Given the description of an element on the screen output the (x, y) to click on. 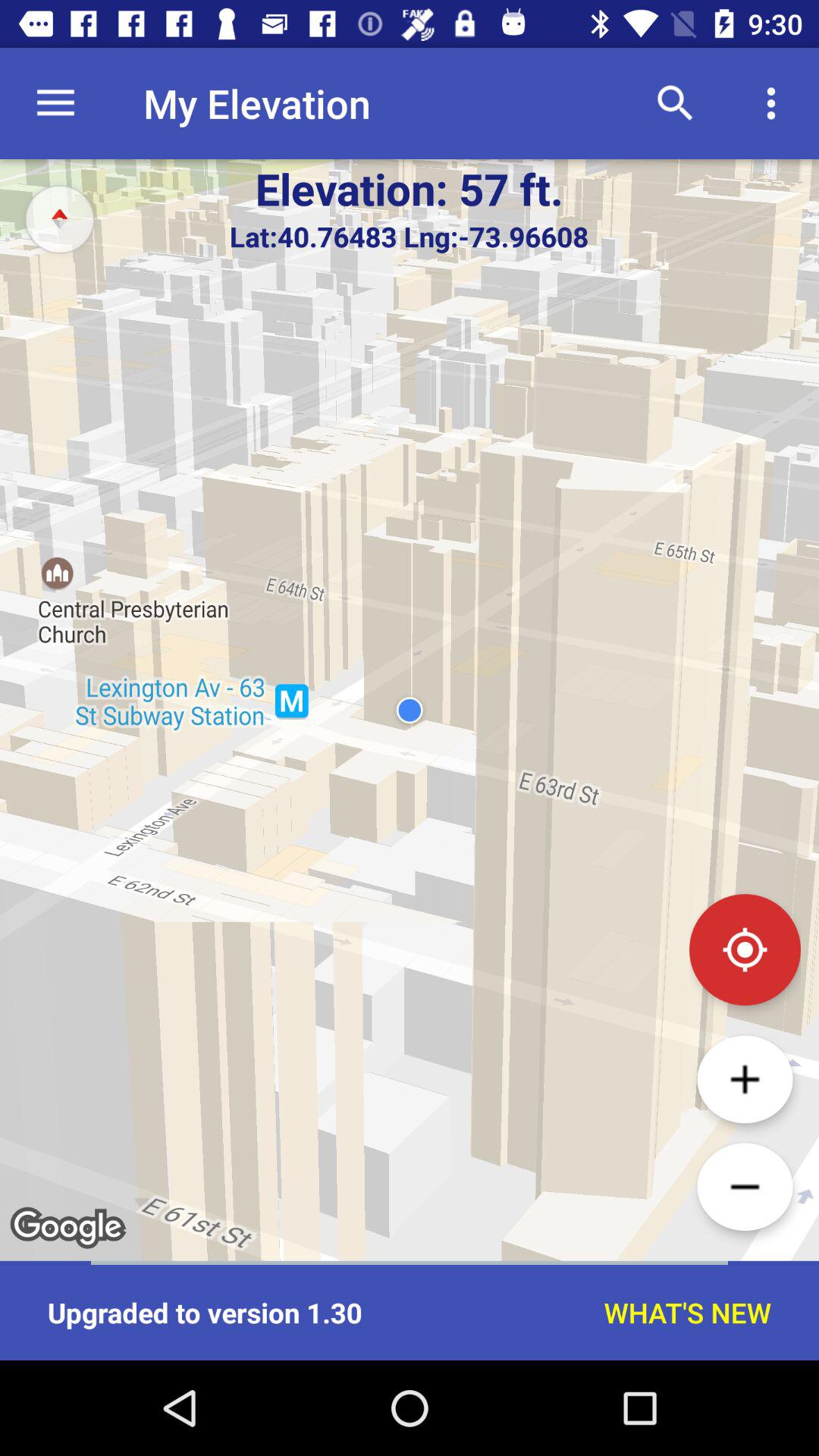
zoom out from the map (744, 1186)
